Given the description of an element on the screen output the (x, y) to click on. 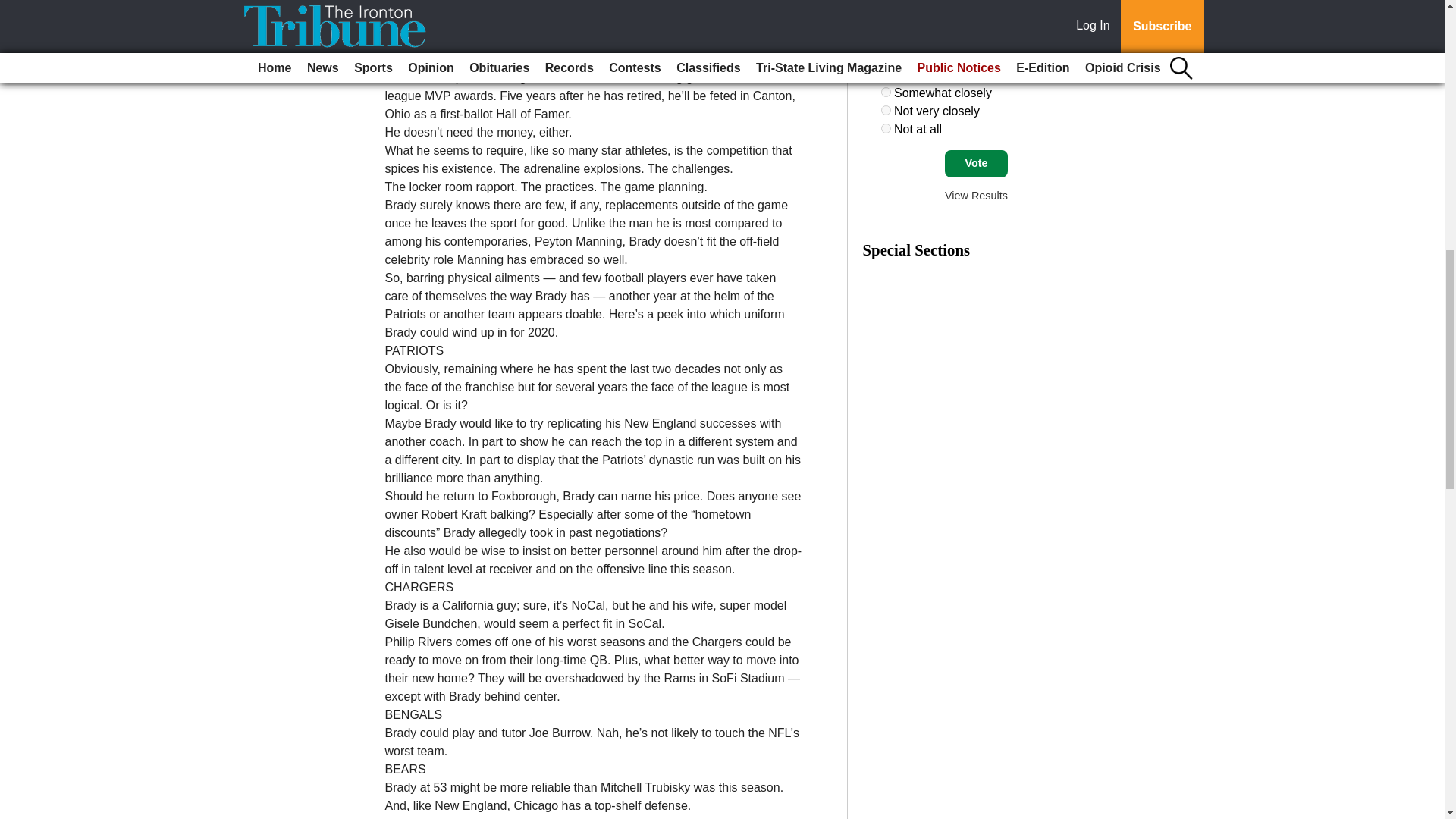
   Vote    (975, 163)
View Results (975, 195)
1434 (885, 110)
1433 (885, 91)
View Results Of This Poll (975, 195)
1432 (885, 73)
1435 (885, 128)
